Given the description of an element on the screen output the (x, y) to click on. 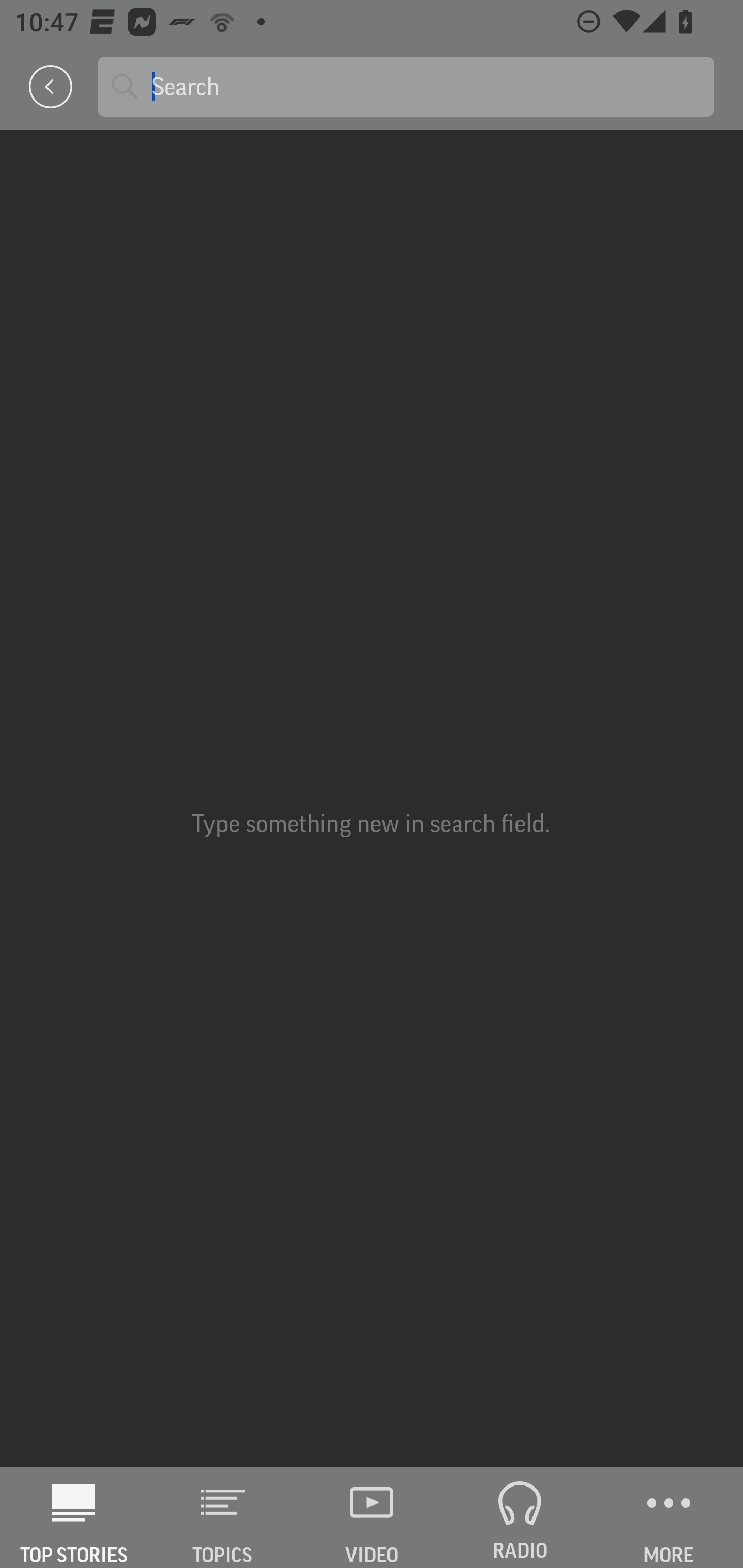
Search (425, 86)
AP News TOP STORIES (74, 1517)
TOPICS (222, 1517)
VIDEO (371, 1517)
RADIO (519, 1517)
MORE (668, 1517)
